Given the description of an element on the screen output the (x, y) to click on. 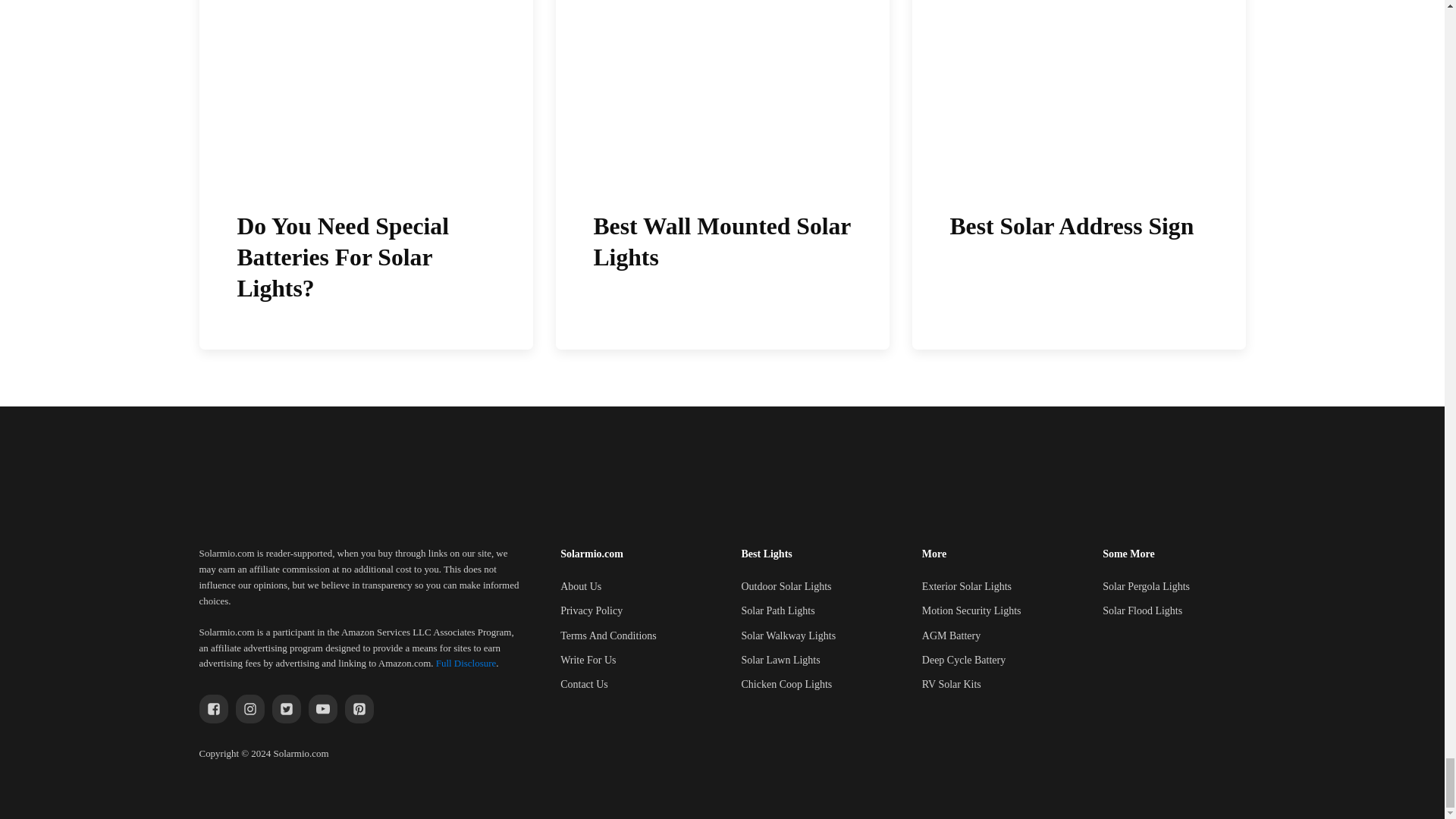
Do You Need Special Batteries For Solar Lights? (365, 175)
Contact Us (584, 684)
Privacy Policy (591, 610)
Full Disclosure (465, 663)
About Us (580, 586)
Solar Lawn Lights (780, 660)
Best Wall Mounted Solar Lights (721, 175)
Write For Us (587, 660)
Terms And Conditions (608, 636)
Solar Walkway Lights (788, 636)
Outdoor Solar Lights (786, 586)
Chicken Coop Lights (786, 684)
Solar Path Lights (777, 610)
Best Solar Address Sign (1077, 175)
